Given the description of an element on the screen output the (x, y) to click on. 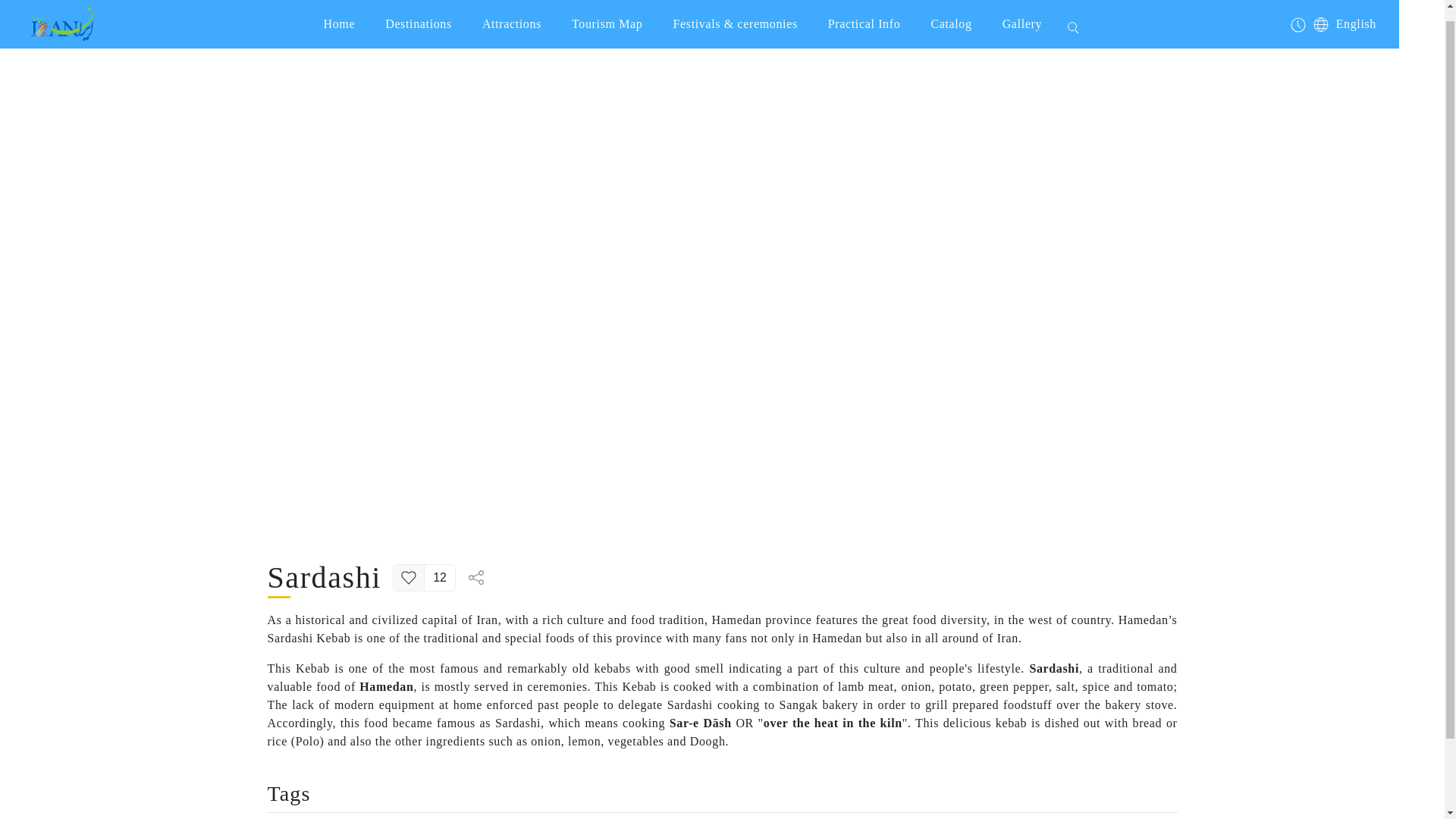
Attractions (511, 18)
Practical Info (863, 18)
Tourism Map (607, 18)
Catalog (951, 18)
Destinations (418, 18)
Gallery (1022, 18)
Home (339, 18)
